Given the description of an element on the screen output the (x, y) to click on. 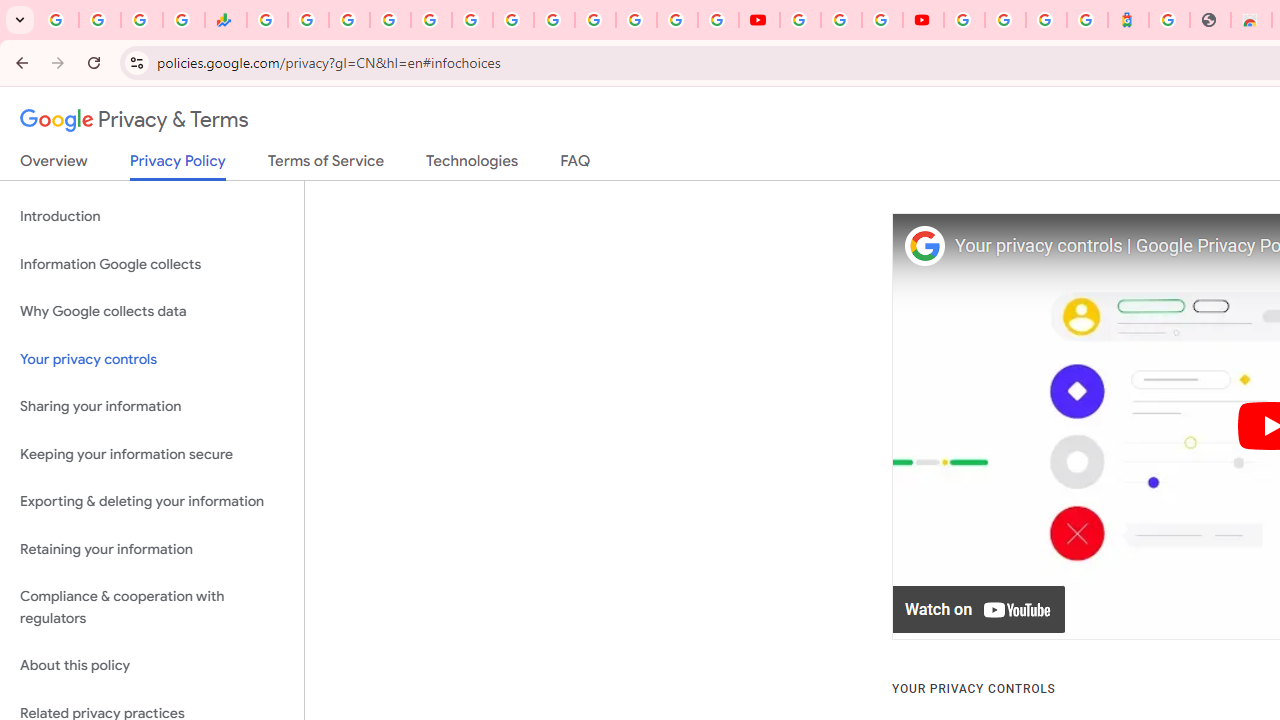
YouTube (758, 20)
Sign in - Google Accounts (964, 20)
Photo image of Google (924, 246)
